Given the description of an element on the screen output the (x, y) to click on. 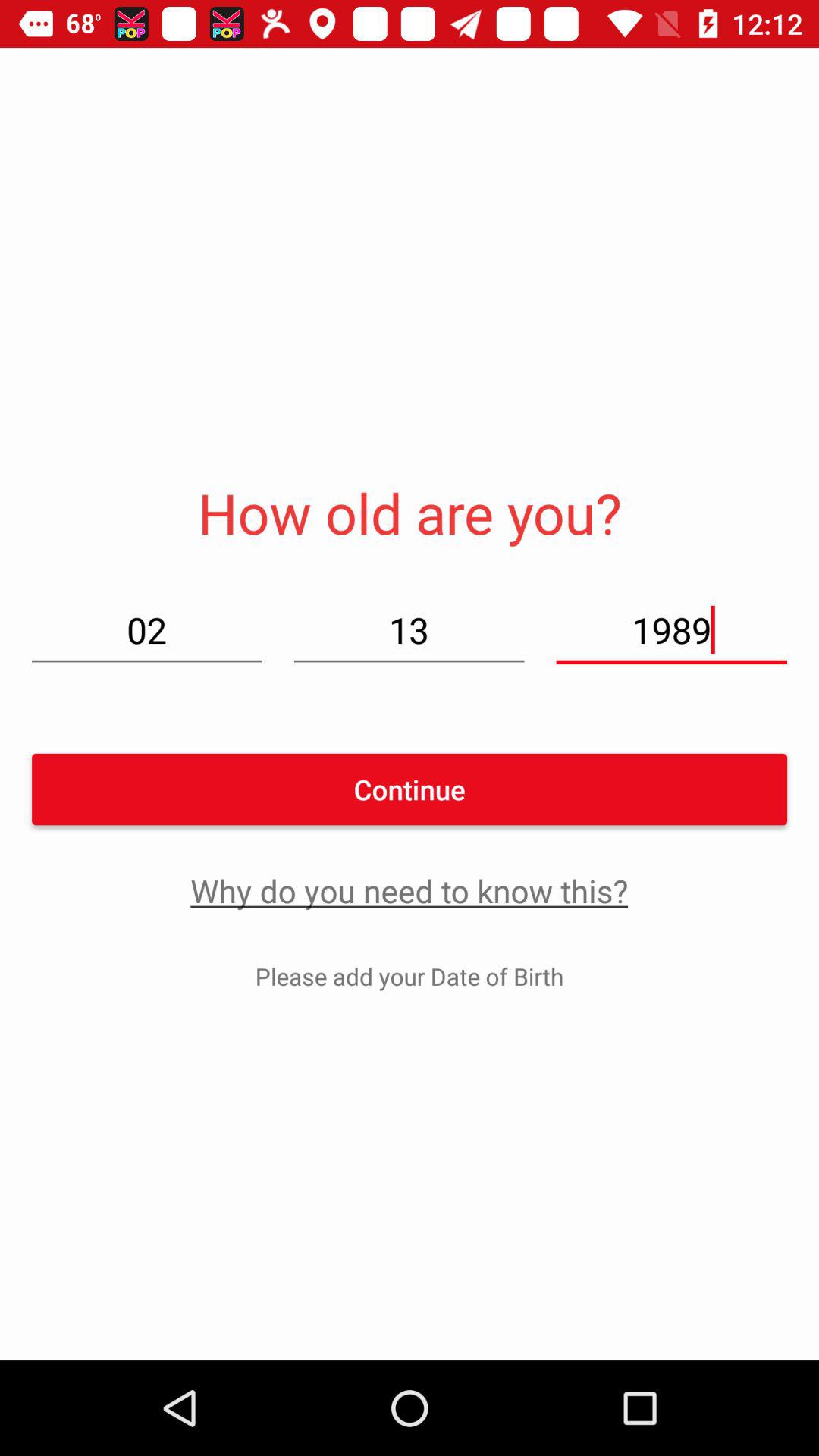
jump until 13 item (409, 629)
